Given the description of an element on the screen output the (x, y) to click on. 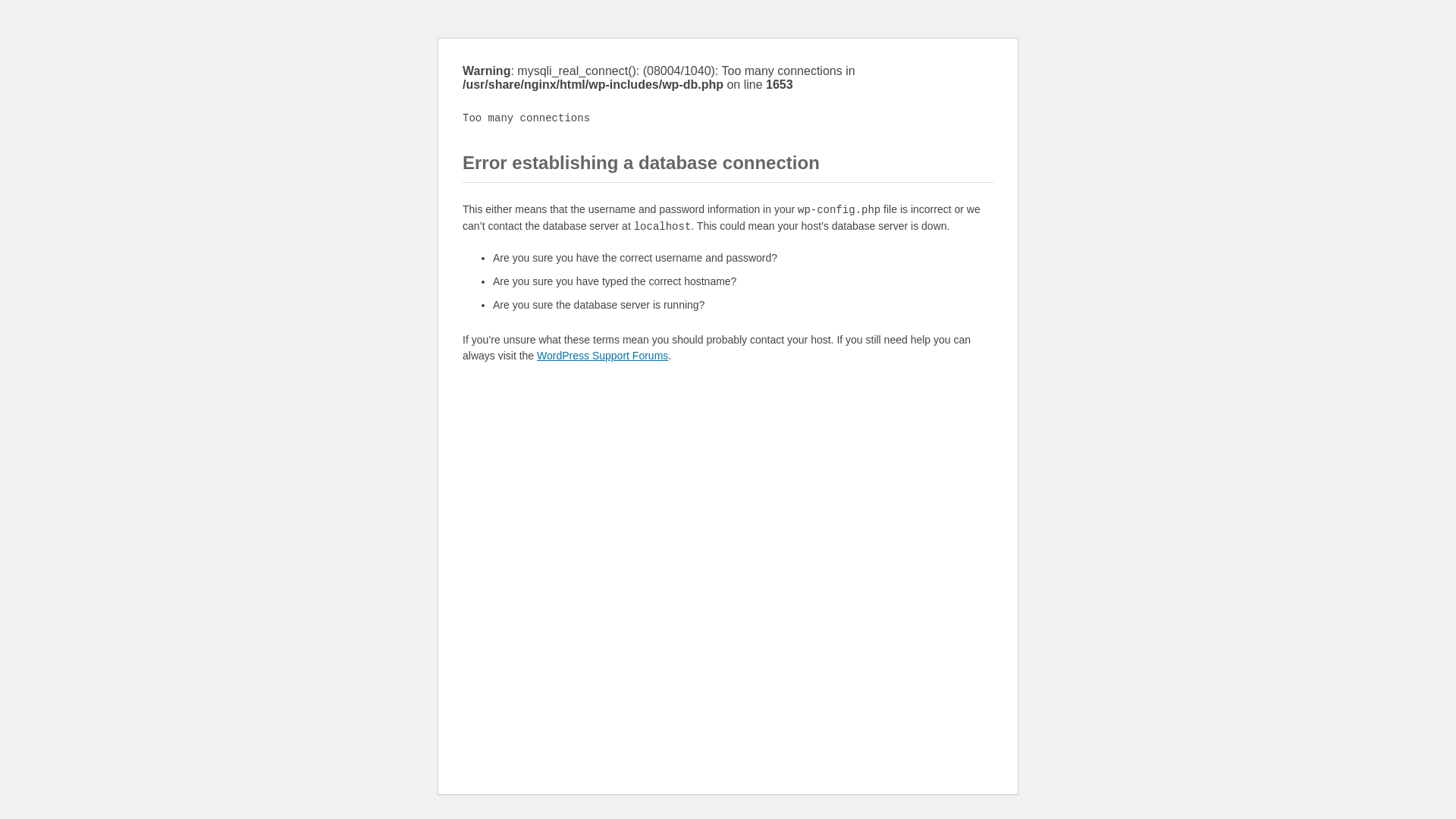
WordPress Support Forums (602, 355)
